Given the description of an element on the screen output the (x, y) to click on. 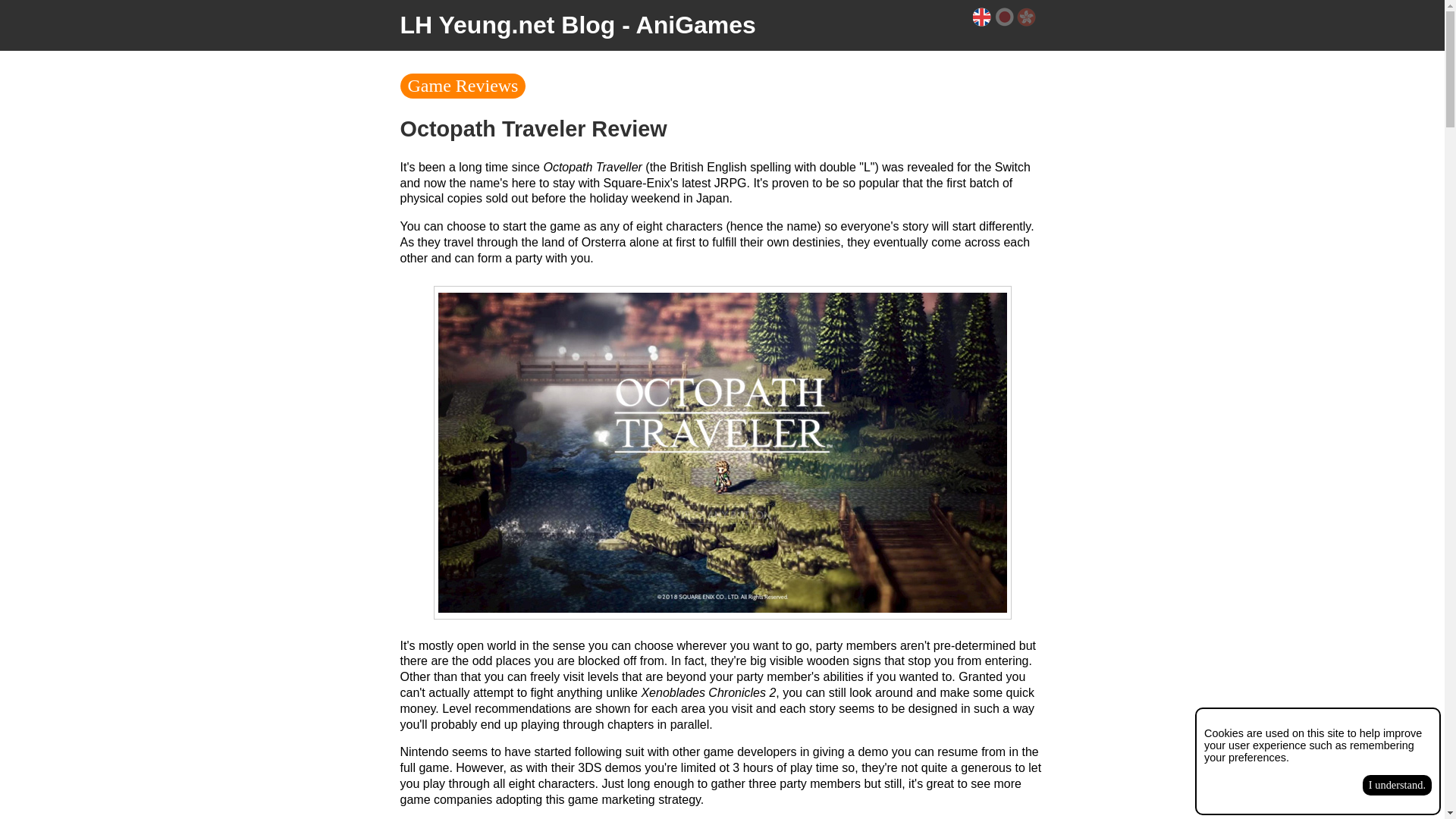
LH Yeung.net Blog - AniGames (577, 24)
Game Reviews (462, 85)
